Given the description of an element on the screen output the (x, y) to click on. 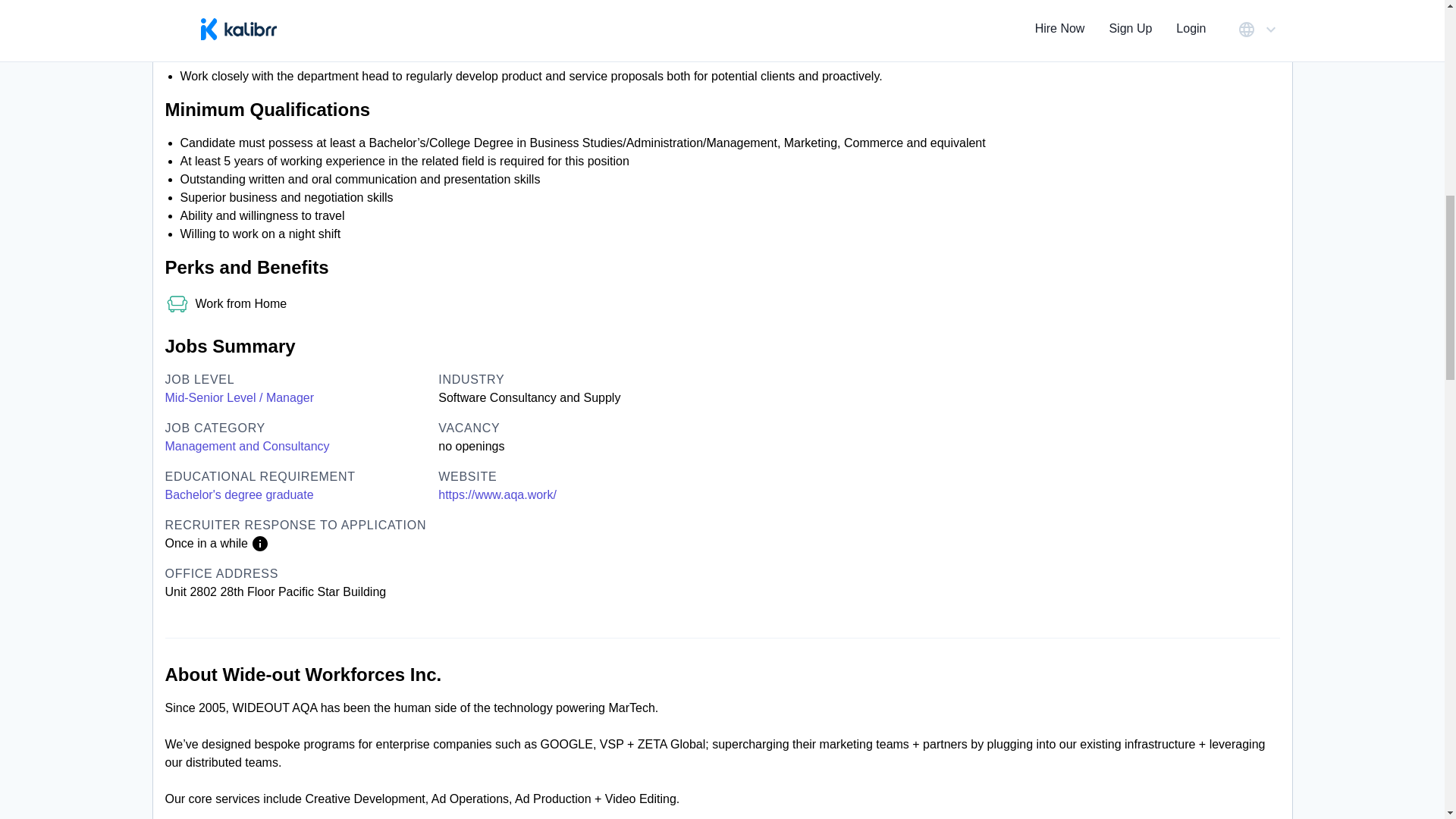
Bachelor's degree graduate (239, 495)
Management and Consultancy (247, 446)
